Given the description of an element on the screen output the (x, y) to click on. 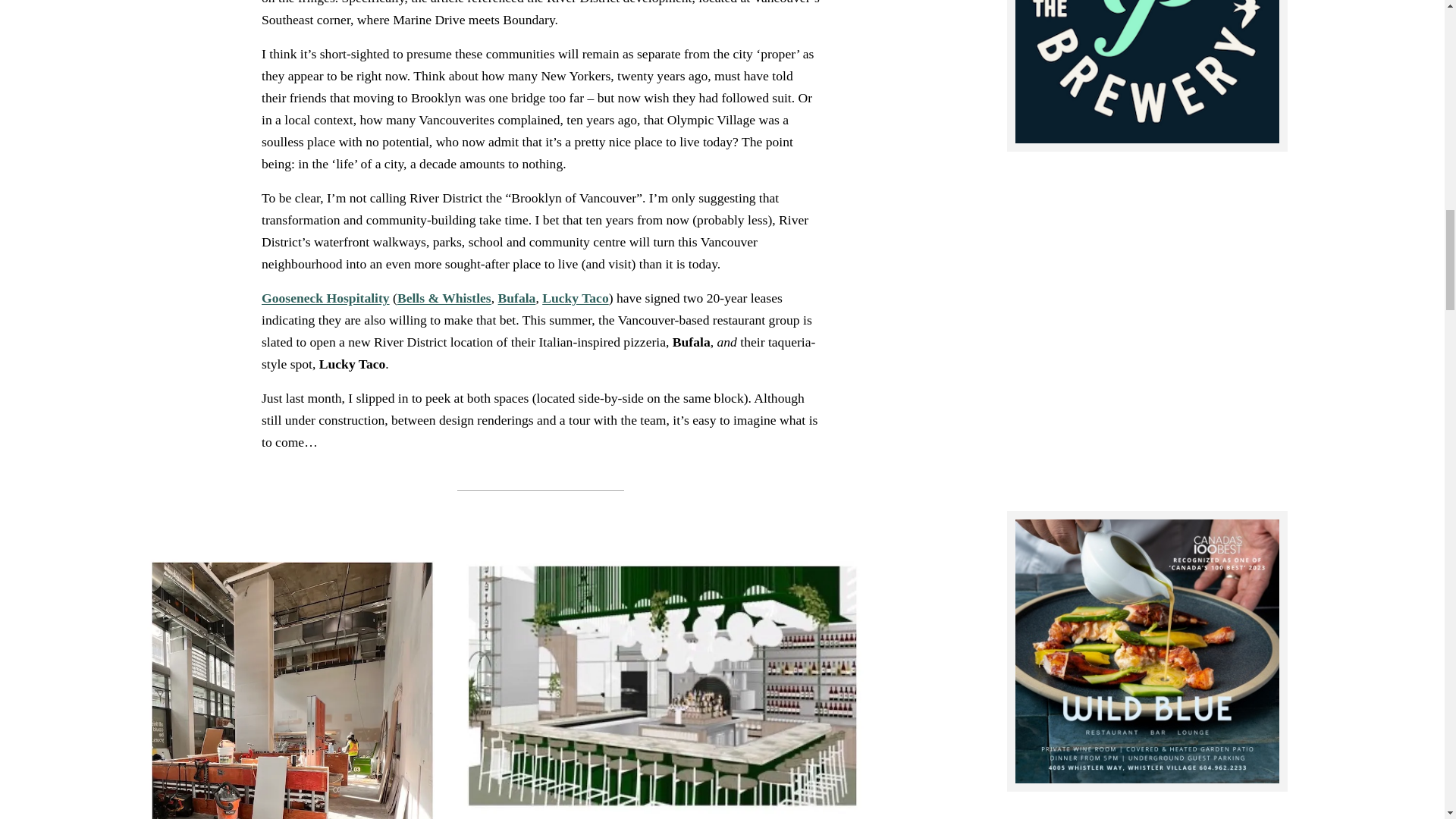
Bufala (516, 297)
Gooseneck Hospitality (324, 297)
Lucky Taco (574, 297)
